Given the description of an element on the screen output the (x, y) to click on. 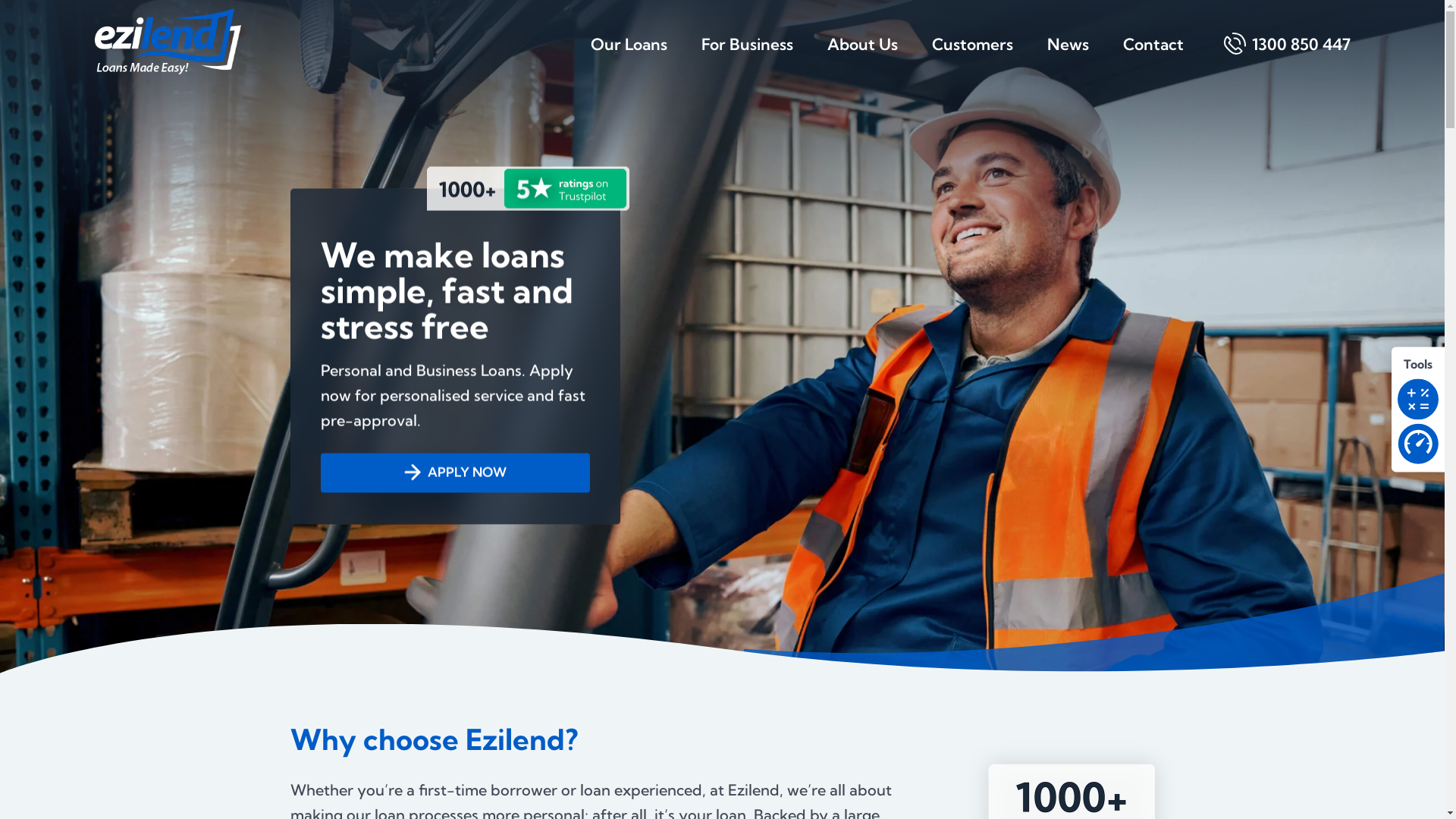
Our Loans Element type: text (627, 55)
Customers Element type: text (971, 55)
For Business Element type: text (746, 55)
About Us Element type: text (861, 55)
Ezilend Element type: hover (167, 41)
APPLY NOW Element type: text (454, 472)
Contact Element type: text (1152, 55)
1300 850 447 Element type: text (1292, 55)
News Element type: text (1067, 55)
